Given the description of an element on the screen output the (x, y) to click on. 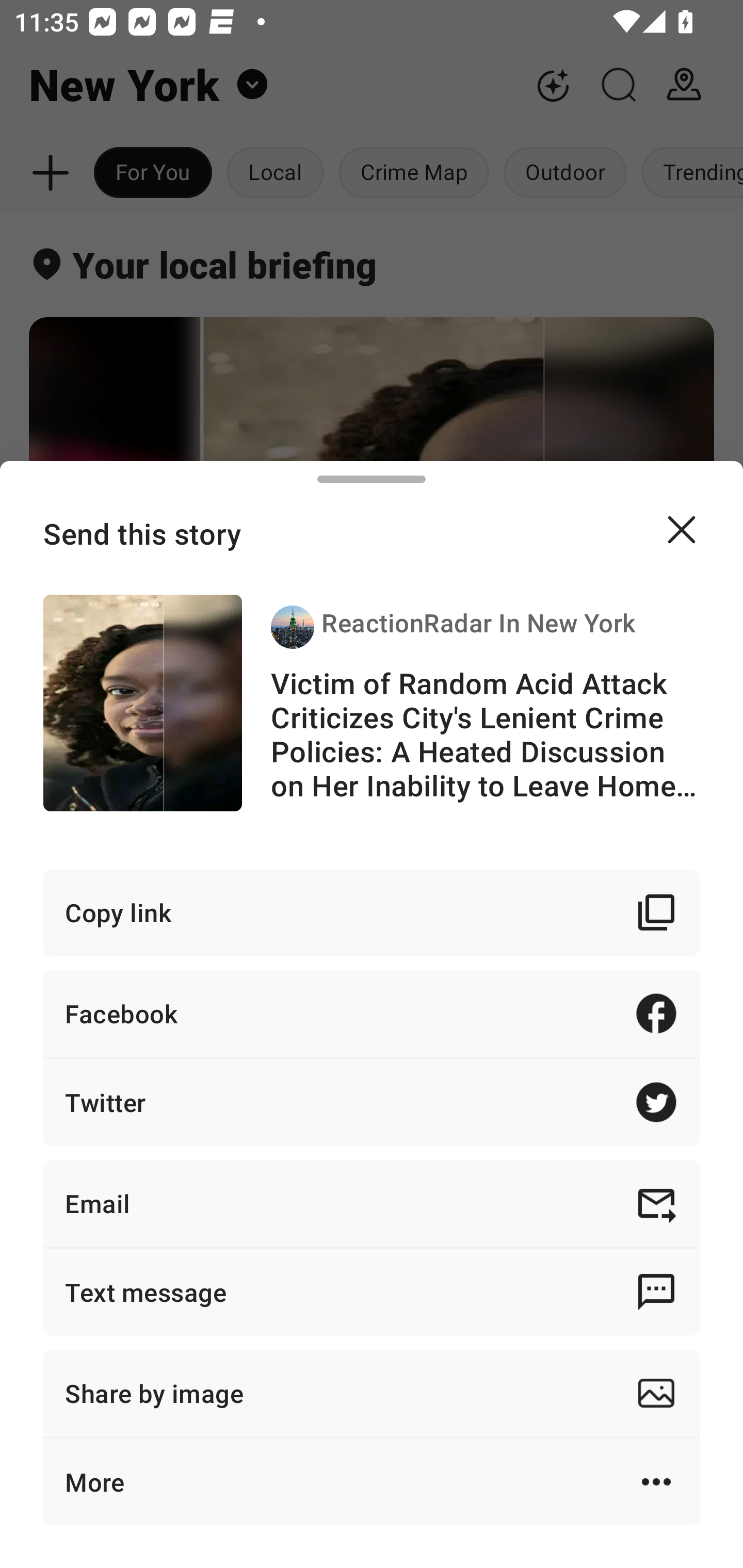
Copy link (371, 912)
Facebook (371, 1013)
Twitter (371, 1102)
Email (371, 1203)
Text message (371, 1291)
Share by image (371, 1393)
More (371, 1481)
